Given the description of an element on the screen output the (x, y) to click on. 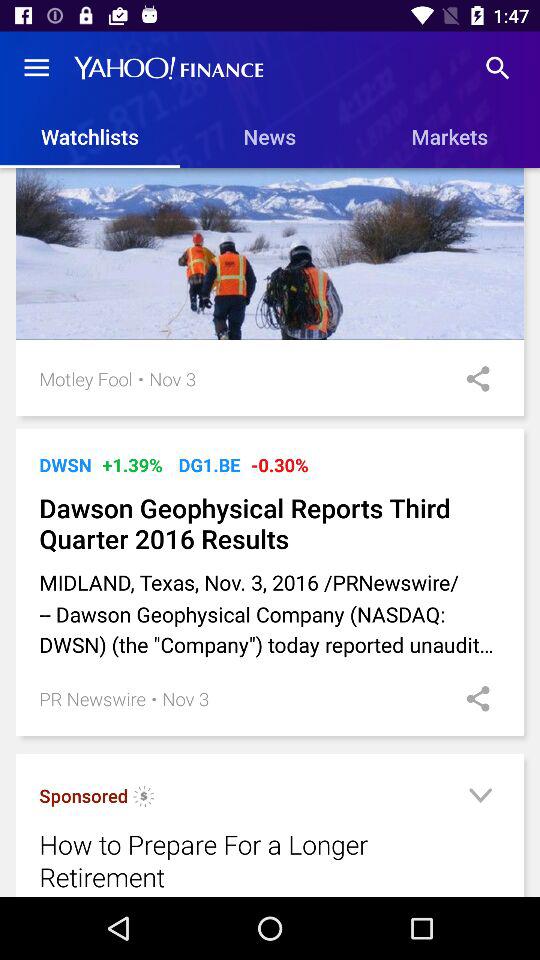
launch icon below the dawson geophysical reports item (269, 613)
